Given the description of an element on the screen output the (x, y) to click on. 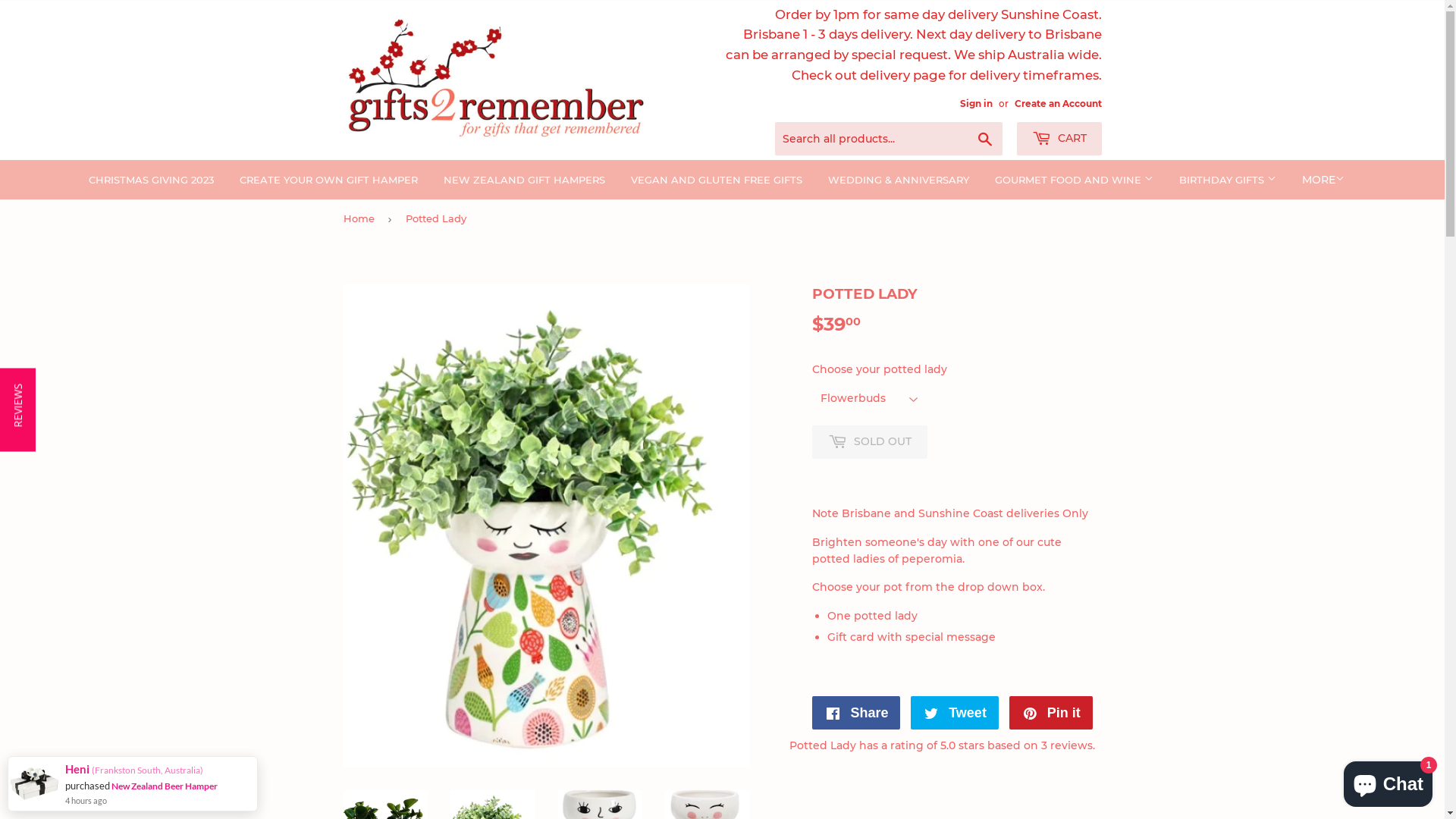
WEDDING & ANNIVERSARY Element type: text (898, 179)
Pin it
Pin on Pinterest Element type: text (1050, 712)
VEGAN AND GLUTEN FREE GIFTS Element type: text (716, 179)
CHRISTMAS GIVING 2023 Element type: text (151, 179)
Shopify online store chat Element type: hover (1388, 780)
Sign in Element type: text (976, 103)
NEW ZEALAND GIFT HAMPERS Element type: text (524, 179)
GOURMET FOOD AND WINE Element type: text (1073, 179)
Share
Share on Facebook Element type: text (855, 712)
MORE Element type: text (1322, 179)
SOLD OUT Element type: text (868, 441)
Tweet
Tweet on Twitter Element type: text (954, 712)
Search Element type: text (984, 139)
New Zealand Beer Hamper Element type: text (164, 785)
CREATE YOUR OWN GIFT HAMPER Element type: text (328, 179)
CART Element type: text (1058, 138)
BIRTHDAY GIFTS Element type: text (1227, 179)
Create an Account Element type: text (1057, 103)
Home Element type: text (360, 218)
